Given the description of an element on the screen output the (x, y) to click on. 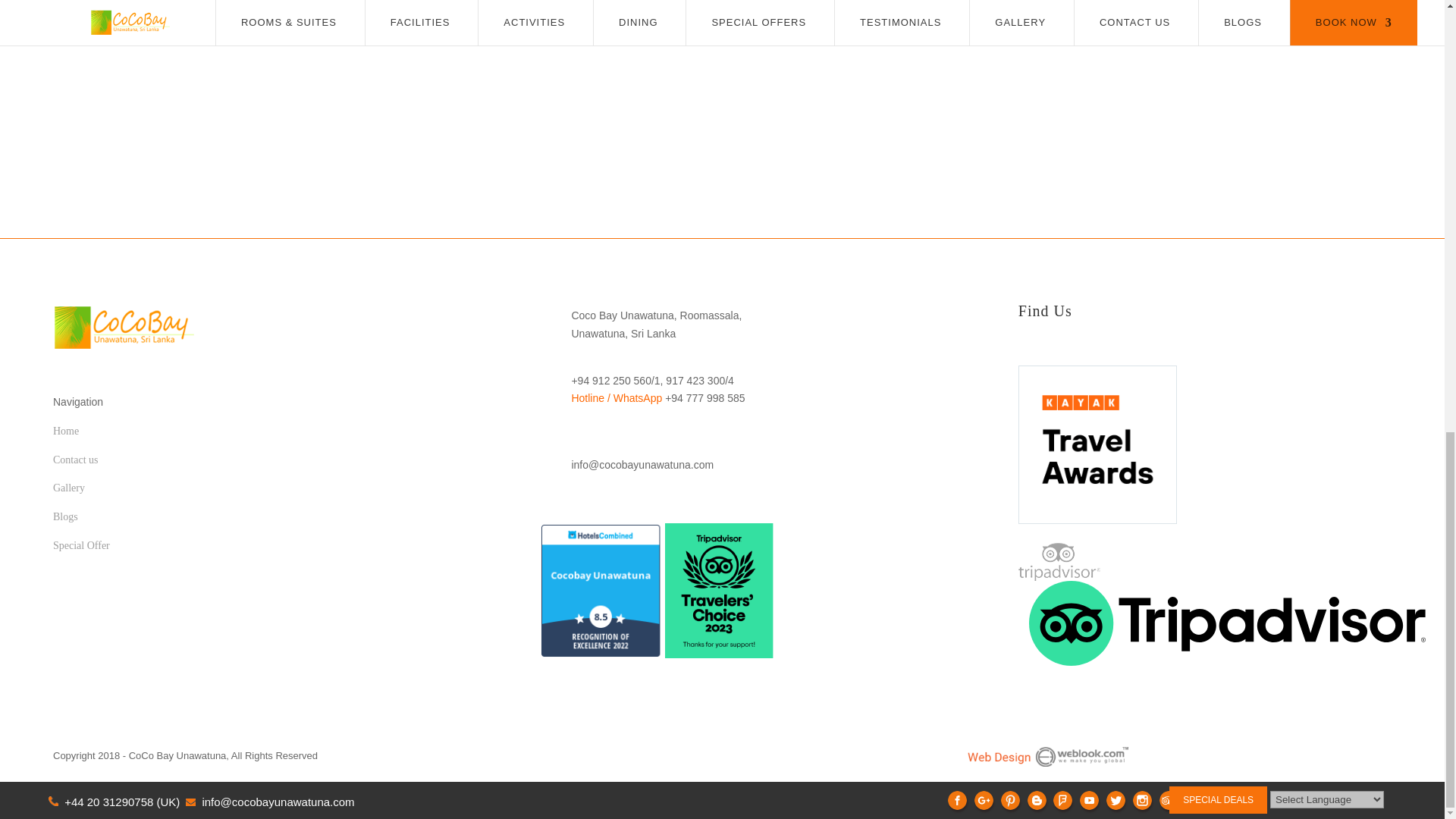
web-design-sri-lanka-logo-300x37 (1047, 756)
